Given the description of an element on the screen output the (x, y) to click on. 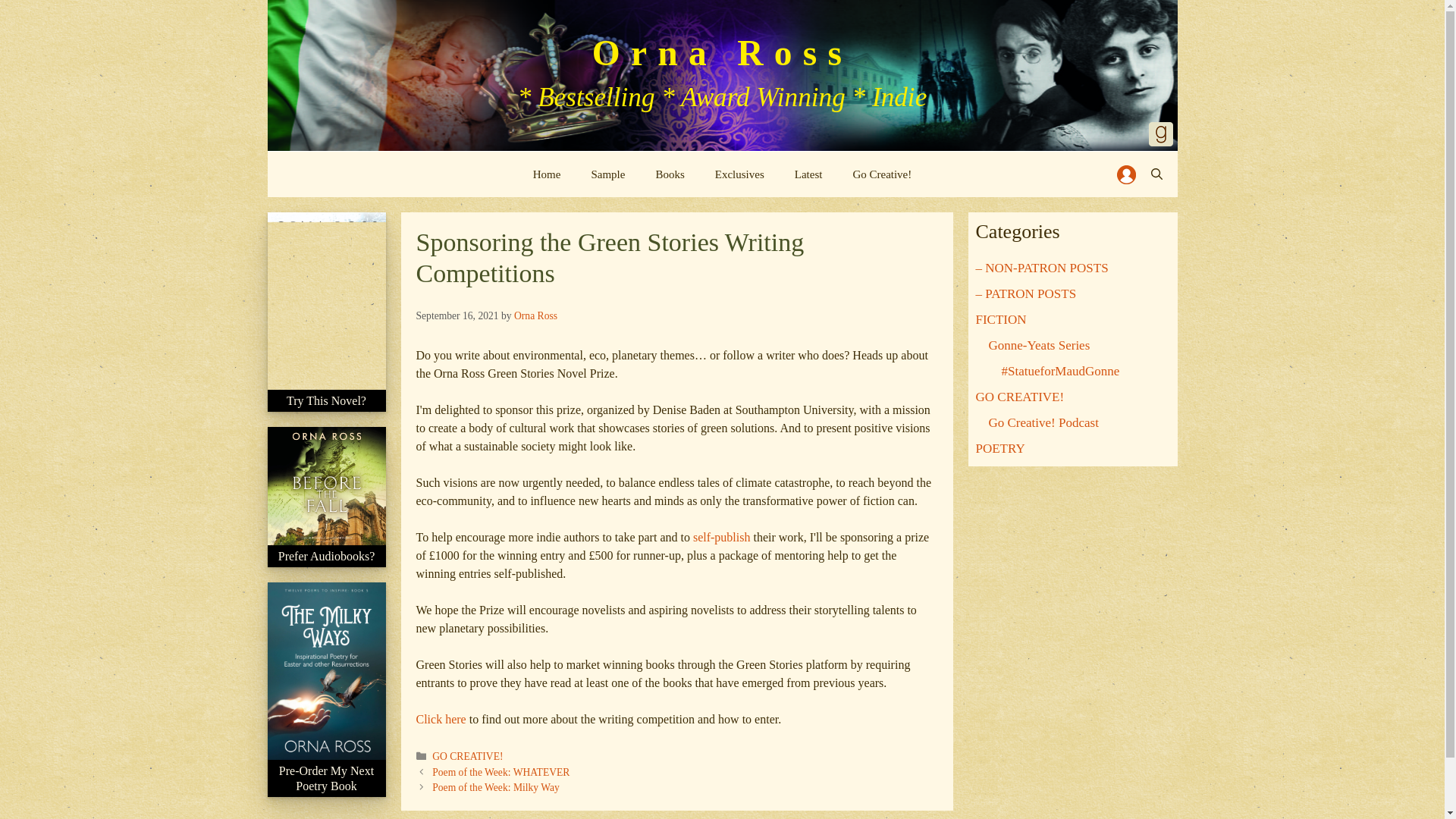
Prefer Audiobooks? (325, 564)
Exclusives (739, 174)
Orna Ross (535, 315)
POETRY (1000, 448)
Orna Ross (721, 52)
Poem of the Week: WHATEVER (500, 772)
My Account (1125, 174)
View all posts by Orna Ross (535, 315)
Go Creative! (881, 174)
Books (669, 174)
